Given the description of an element on the screen output the (x, y) to click on. 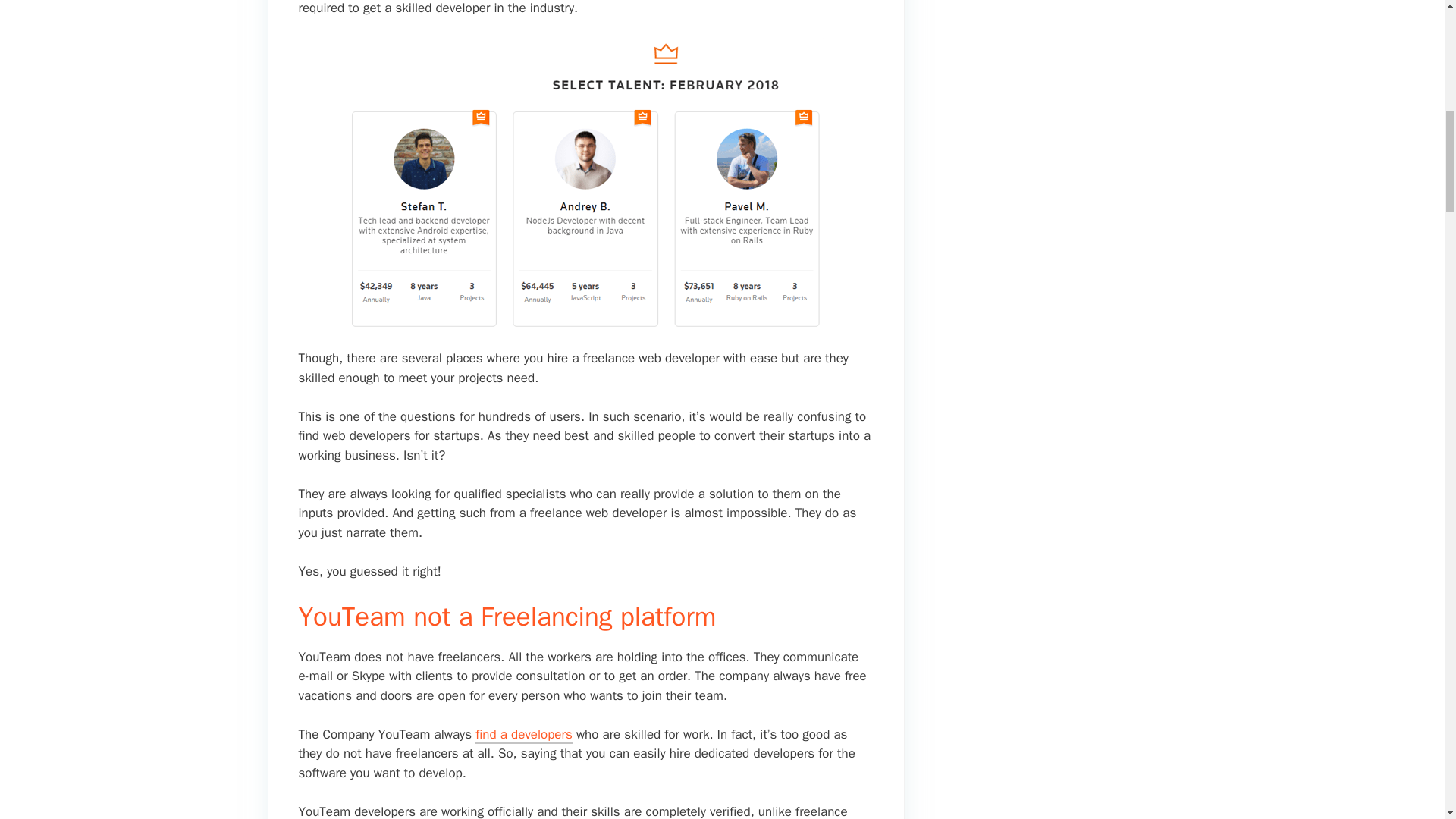
Scroll back to top (1406, 720)
